Given the description of an element on the screen output the (x, y) to click on. 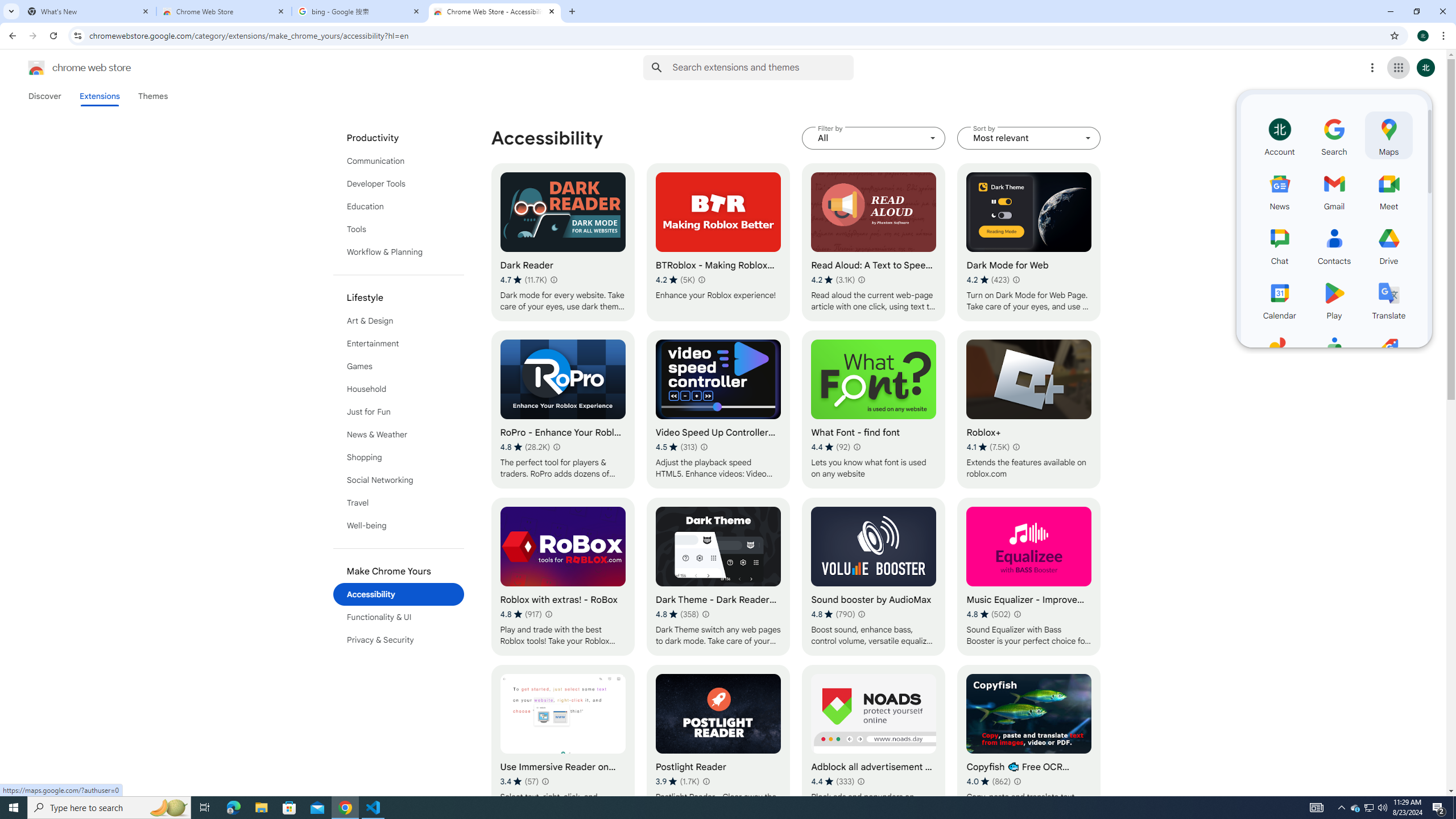
Chrome Web Store - Accessibility (494, 11)
News & Weather (398, 434)
Themes (152, 95)
Average rating 4.2 out of 5 stars. 423 ratings. (988, 279)
List of categories in Chrome Web Store. (398, 388)
Games (398, 365)
Average rating 4.4 out of 5 stars. 92 ratings. (830, 446)
Dark Reader (562, 241)
More options menu (1372, 67)
